Given the description of an element on the screen output the (x, y) to click on. 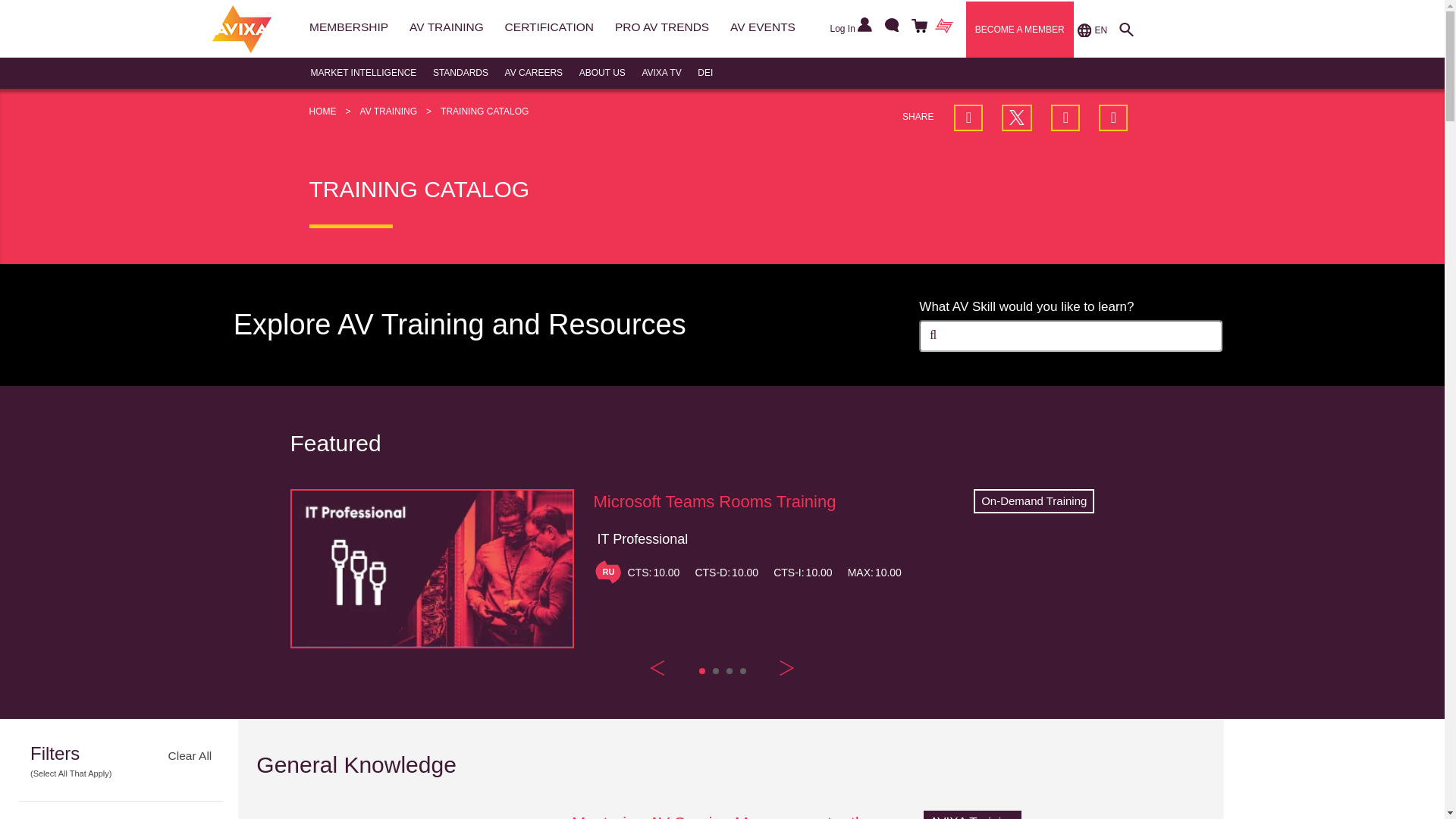
Contact (889, 26)
Shop (916, 27)
Join the AVIXA Xchange (943, 27)
Tell a friend (1112, 117)
